Given the description of an element on the screen output the (x, y) to click on. 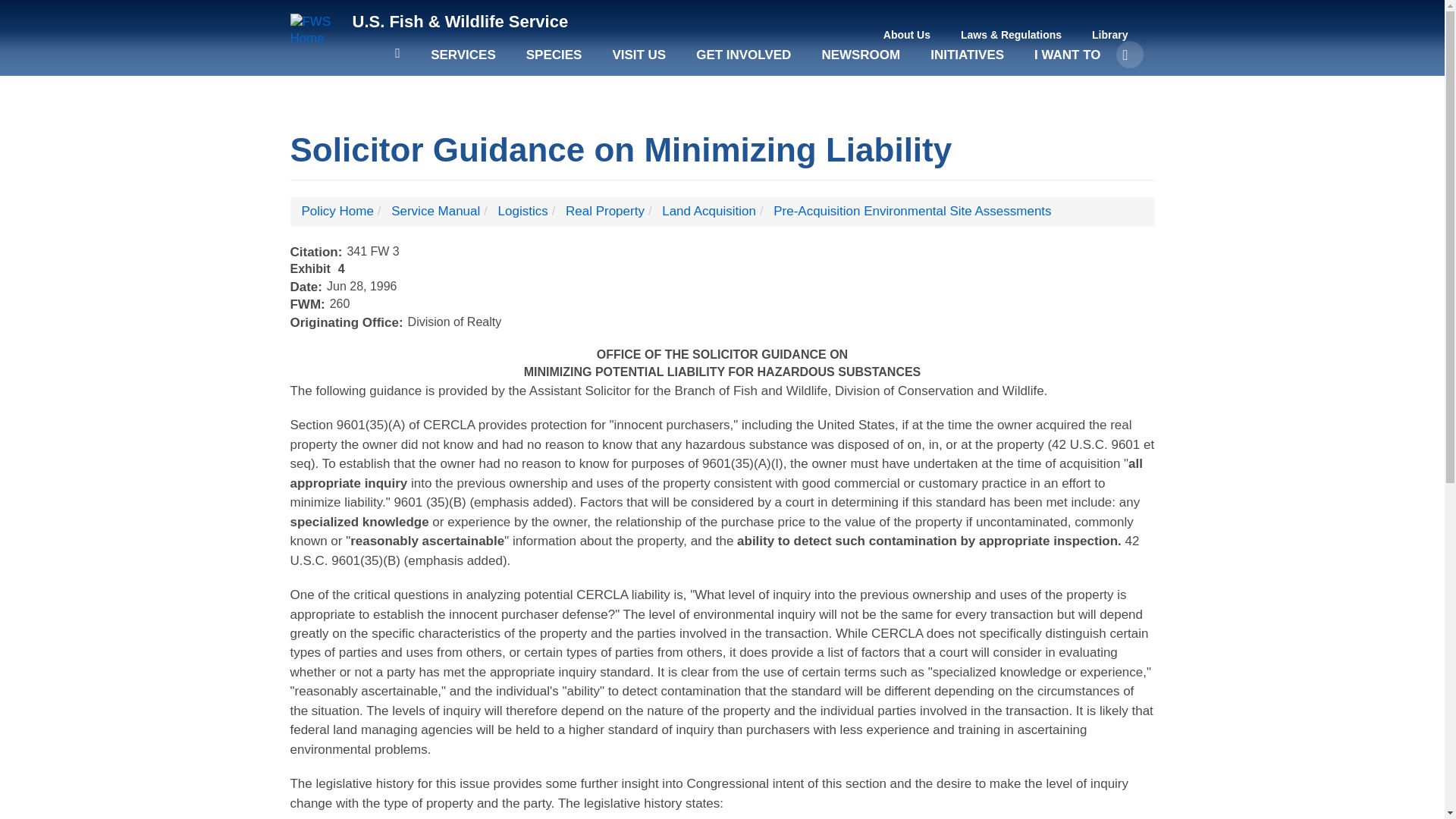
SERVICES (463, 62)
FWS Home (459, 21)
FWS Home (314, 29)
Library (1109, 34)
Access services provided by FWS (463, 62)
About Us (906, 34)
